Given the description of an element on the screen output the (x, y) to click on. 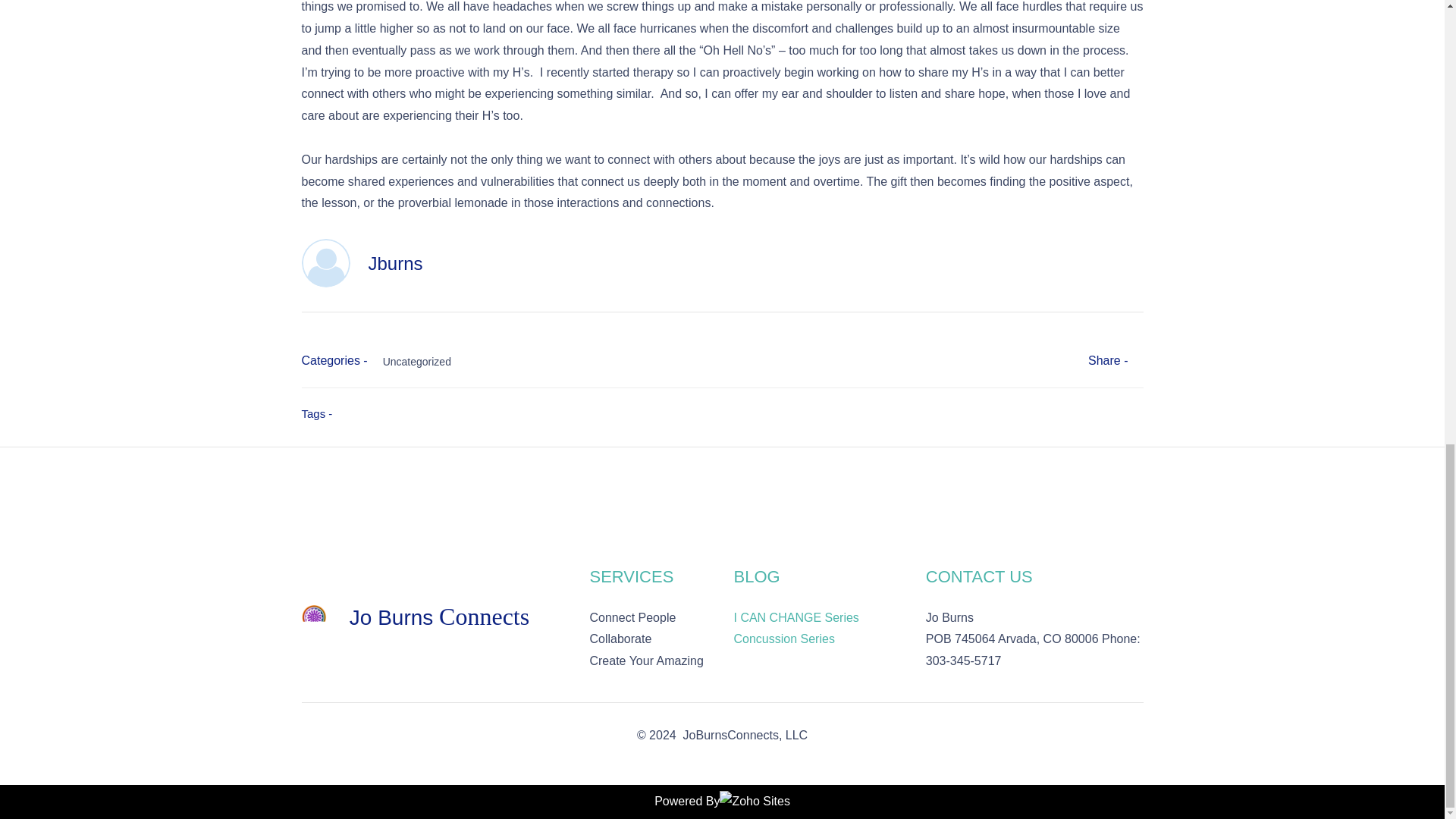
SERVICES (630, 576)
I CAN CHANGE Series (796, 617)
Concussion Series (783, 638)
CONTACT US (979, 576)
BLOG (755, 576)
Uncategorized (533, 361)
